Given the description of an element on the screen output the (x, y) to click on. 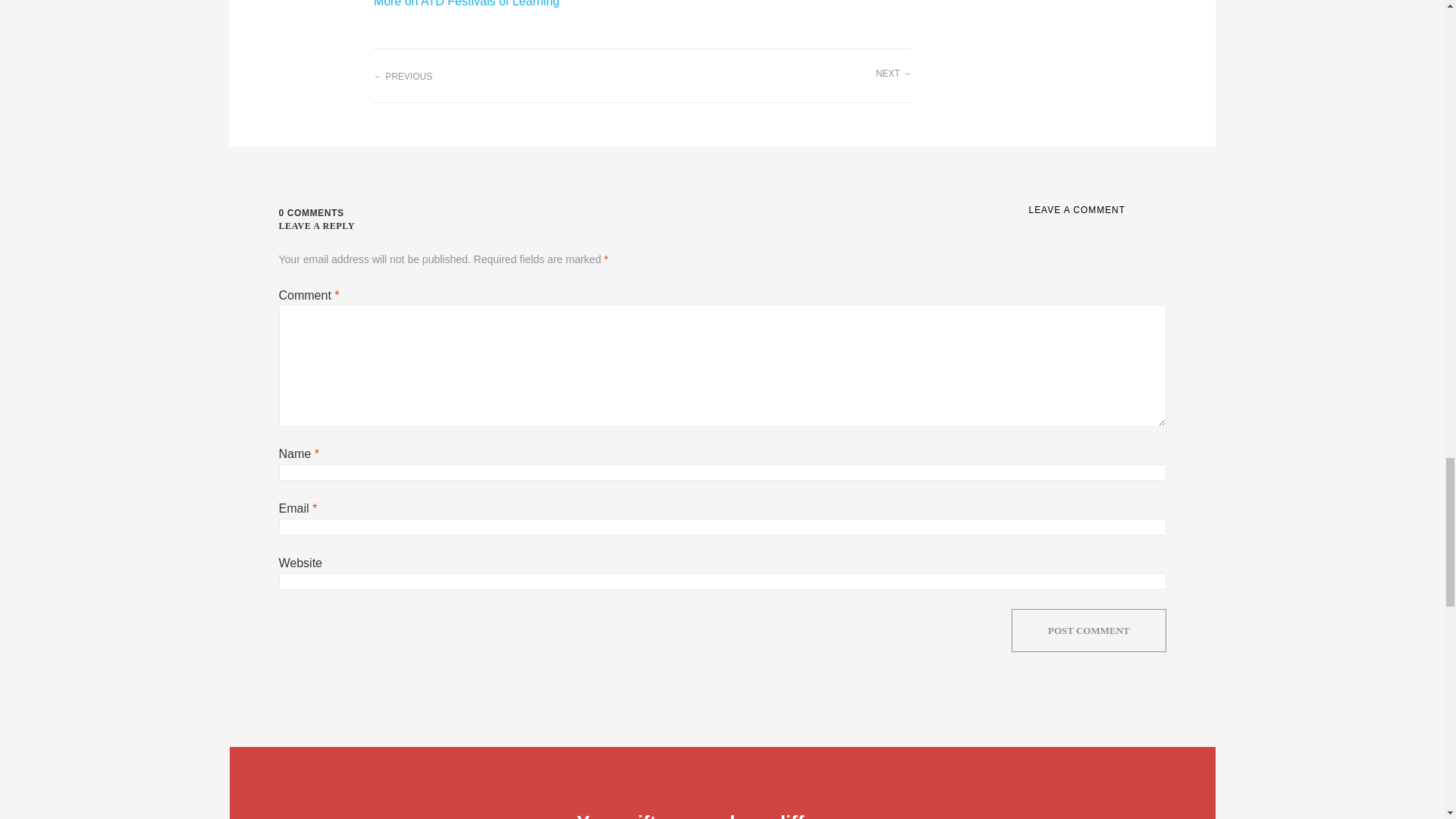
Post Comment (1088, 630)
